Given the description of an element on the screen output the (x, y) to click on. 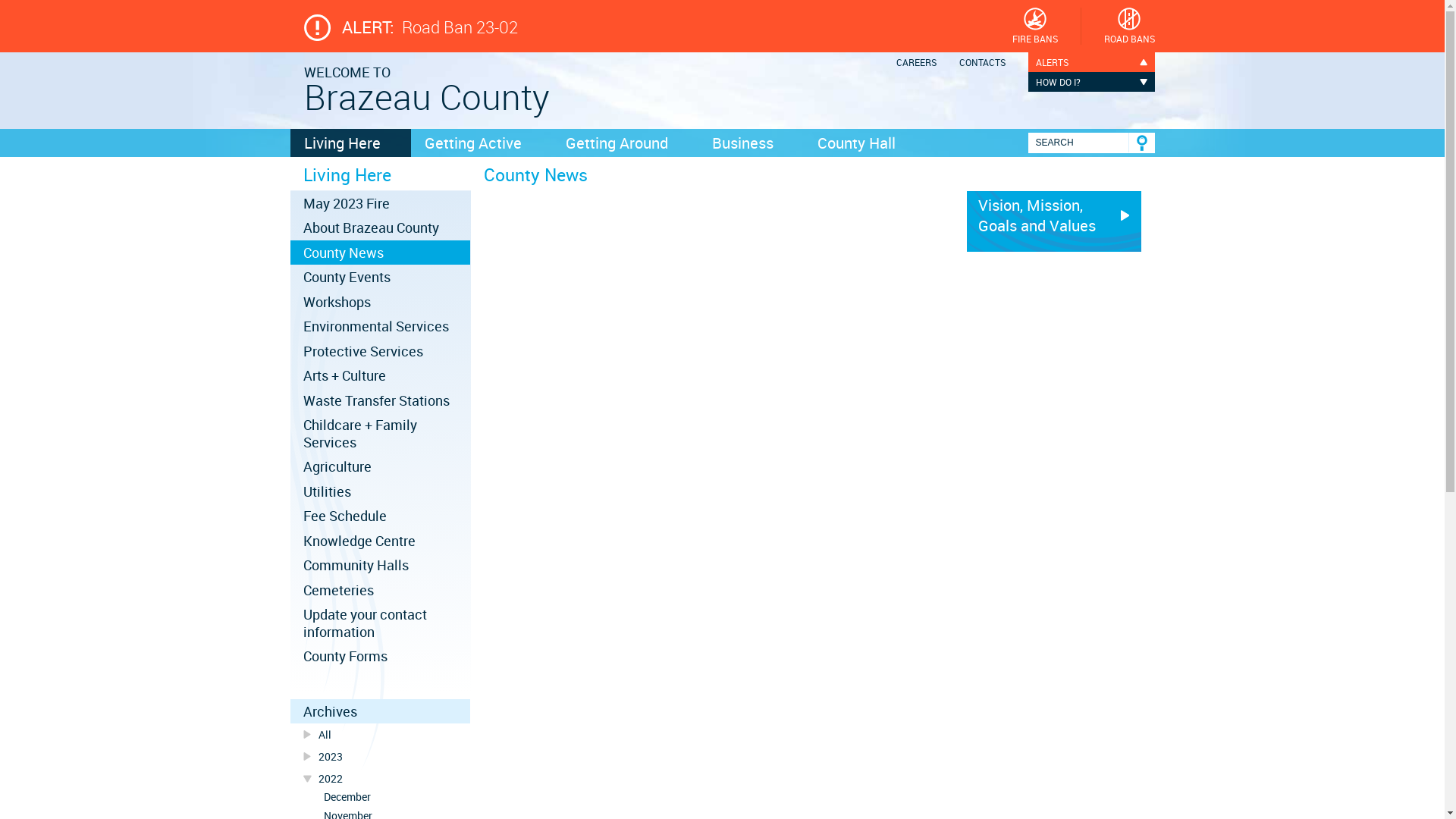
WELCOME TO
Brazeau County Element type: text (426, 87)
Update your contact information Element type: text (379, 622)
About Brazeau County Element type: text (379, 227)
Getting Active Element type: text (481, 142)
Fee Schedule Element type: text (379, 515)
All Element type: text (379, 734)
Living Here Element type: text (349, 142)
May 2023 Fire Element type: text (379, 203)
Childcare + Family Services Element type: text (379, 433)
Business Element type: text (750, 142)
FIRE BANS Element type: text (1034, 25)
Getting Around Element type: text (625, 142)
Vision, Mission, Goals and Values Element type: text (1053, 221)
2022 Element type: text (379, 778)
Cemeteries Element type: text (379, 589)
County Hall Element type: text (864, 142)
County Forms Element type: text (379, 655)
Environmental Services Element type: text (379, 325)
Protective Services Element type: text (379, 350)
Arts + Culture Element type: text (379, 375)
ROAD BANS Element type: text (1129, 25)
Utilities Element type: text (379, 491)
Workshops Element type: text (379, 301)
Waste Transfer Stations Element type: text (379, 400)
ALERT:Road Ban 23-02 Element type: text (590, 27)
CAREERS Element type: text (916, 62)
2023 Element type: text (379, 756)
December Element type: text (379, 797)
County News Element type: text (379, 252)
Knowledge Centre Element type: text (379, 540)
County Events Element type: text (379, 276)
Agriculture Element type: text (379, 466)
Go Element type: text (1141, 142)
Community Halls Element type: text (379, 564)
CONTACTS Element type: text (981, 62)
